Given the description of an element on the screen output the (x, y) to click on. 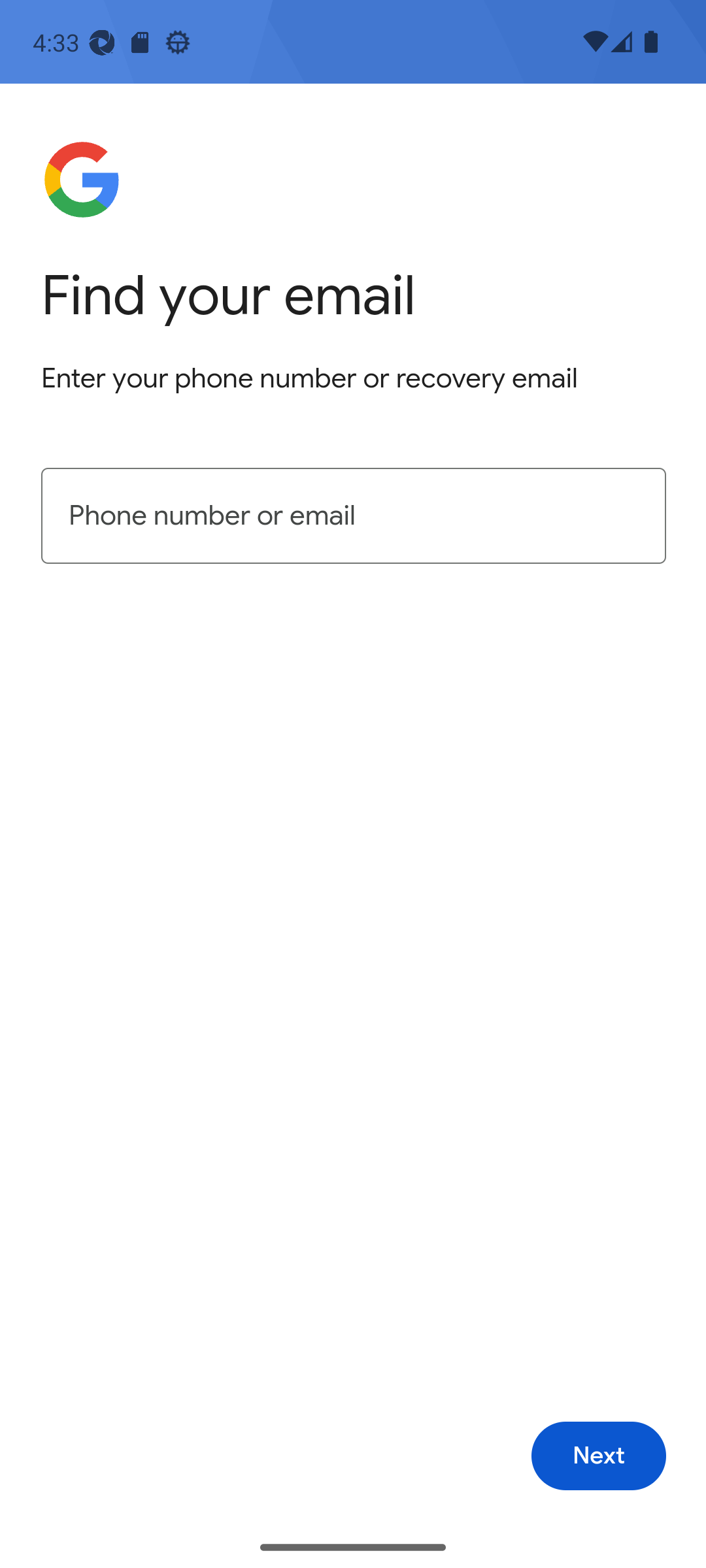
Next (598, 1455)
